Given the description of an element on the screen output the (x, y) to click on. 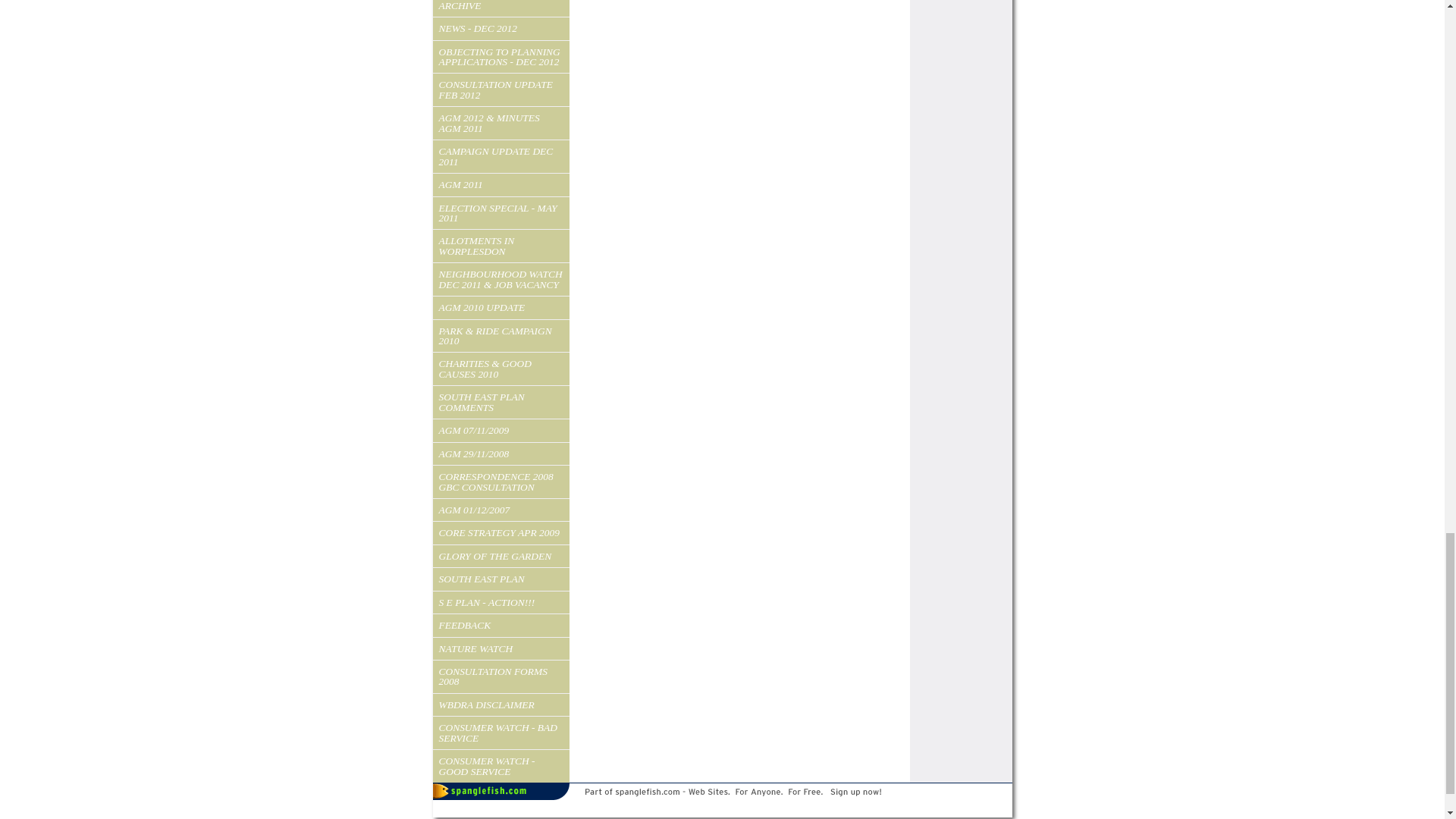
Free website (721, 806)
